Given the description of an element on the screen output the (x, y) to click on. 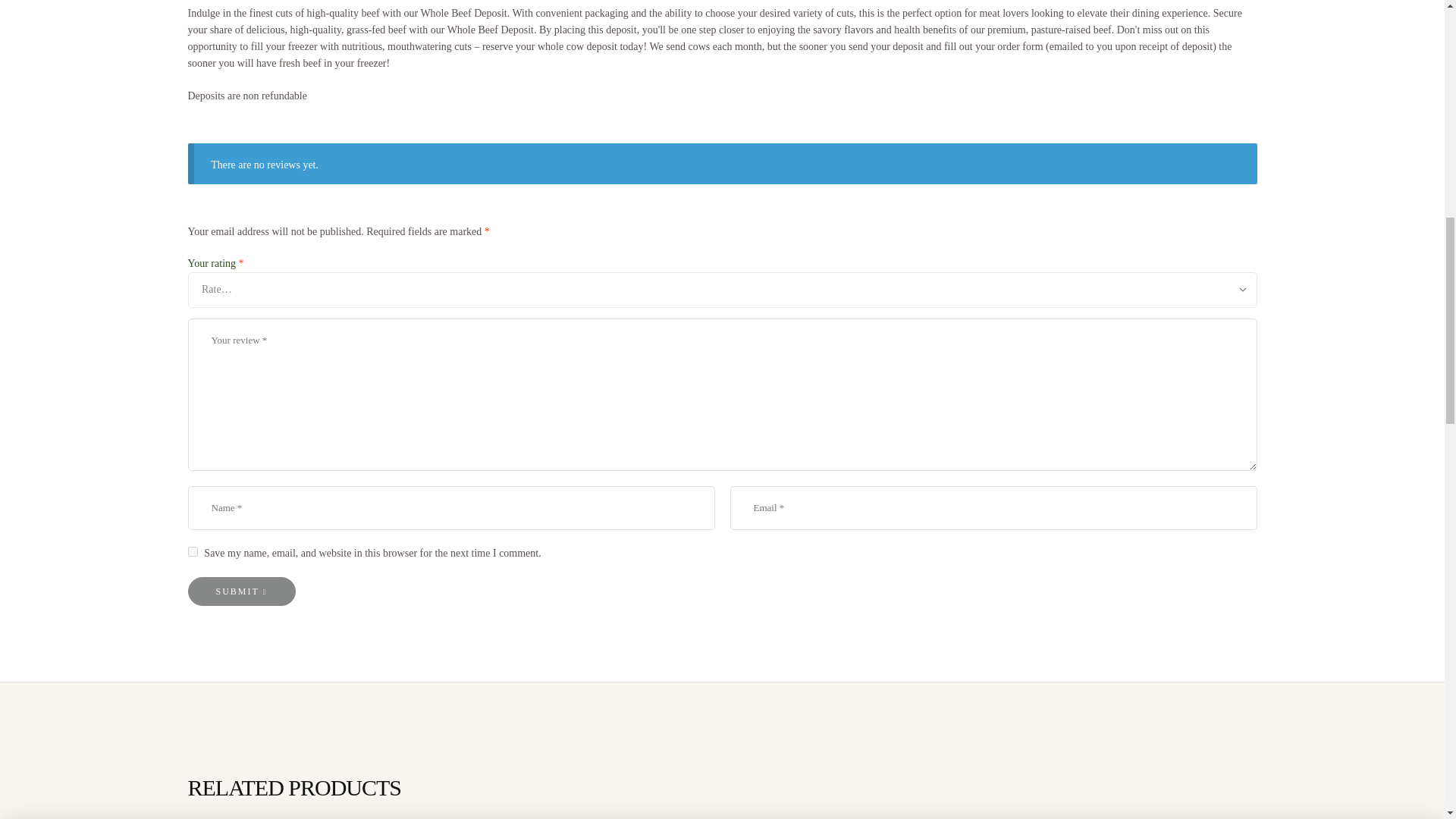
yes (192, 551)
SUBMIT (241, 591)
